Given the description of an element on the screen output the (x, y) to click on. 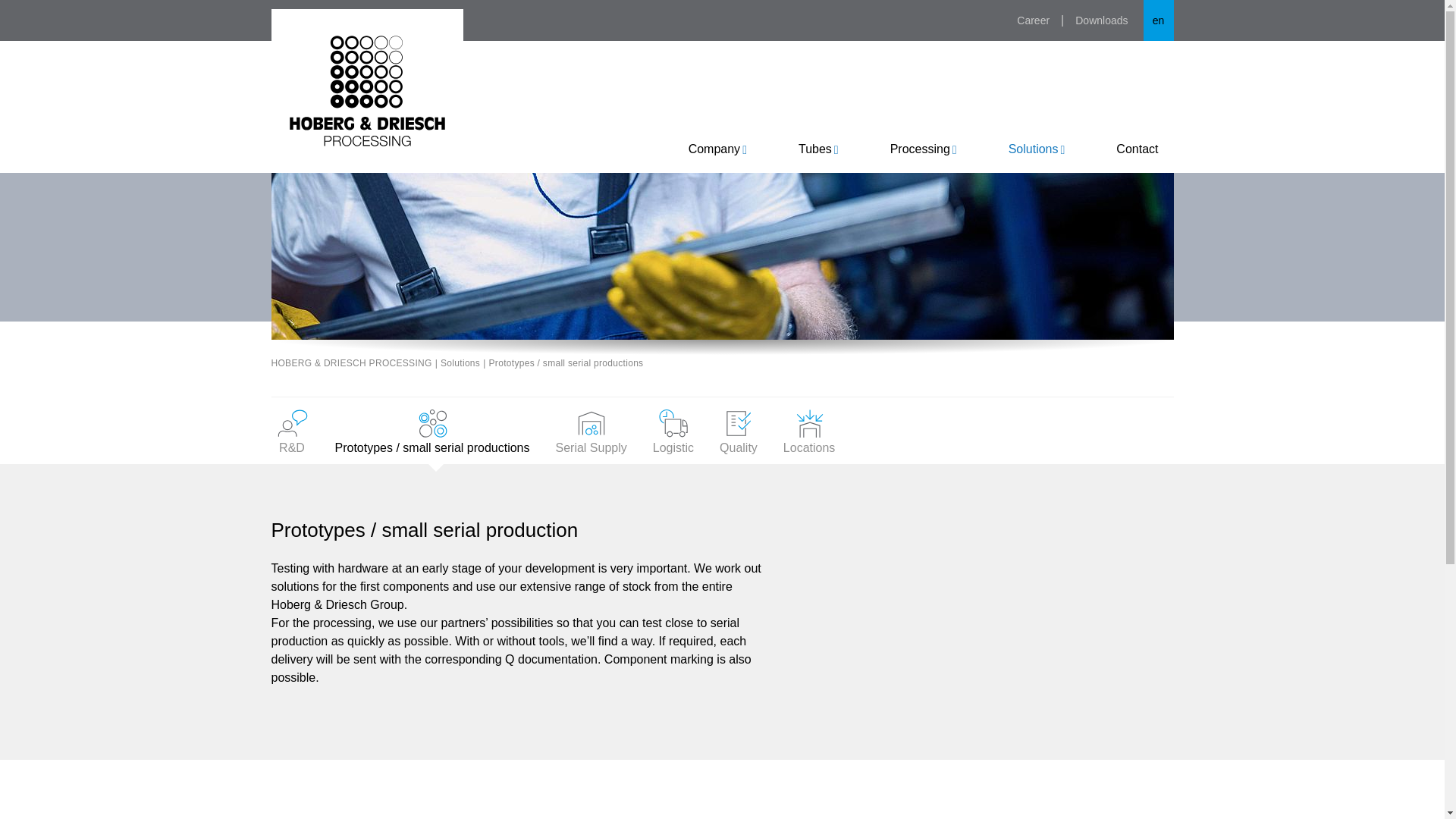
Serial Supply (590, 430)
Go to home page (366, 90)
Career (1033, 20)
Solutions (460, 362)
Contact (1136, 149)
Downloads (1101, 20)
Processing (923, 149)
Company (716, 149)
Tubes (818, 149)
Company (716, 149)
Solutions (1036, 149)
Solutions (1036, 149)
Locations (809, 430)
Processing (923, 149)
Locations (809, 430)
